Given the description of an element on the screen output the (x, y) to click on. 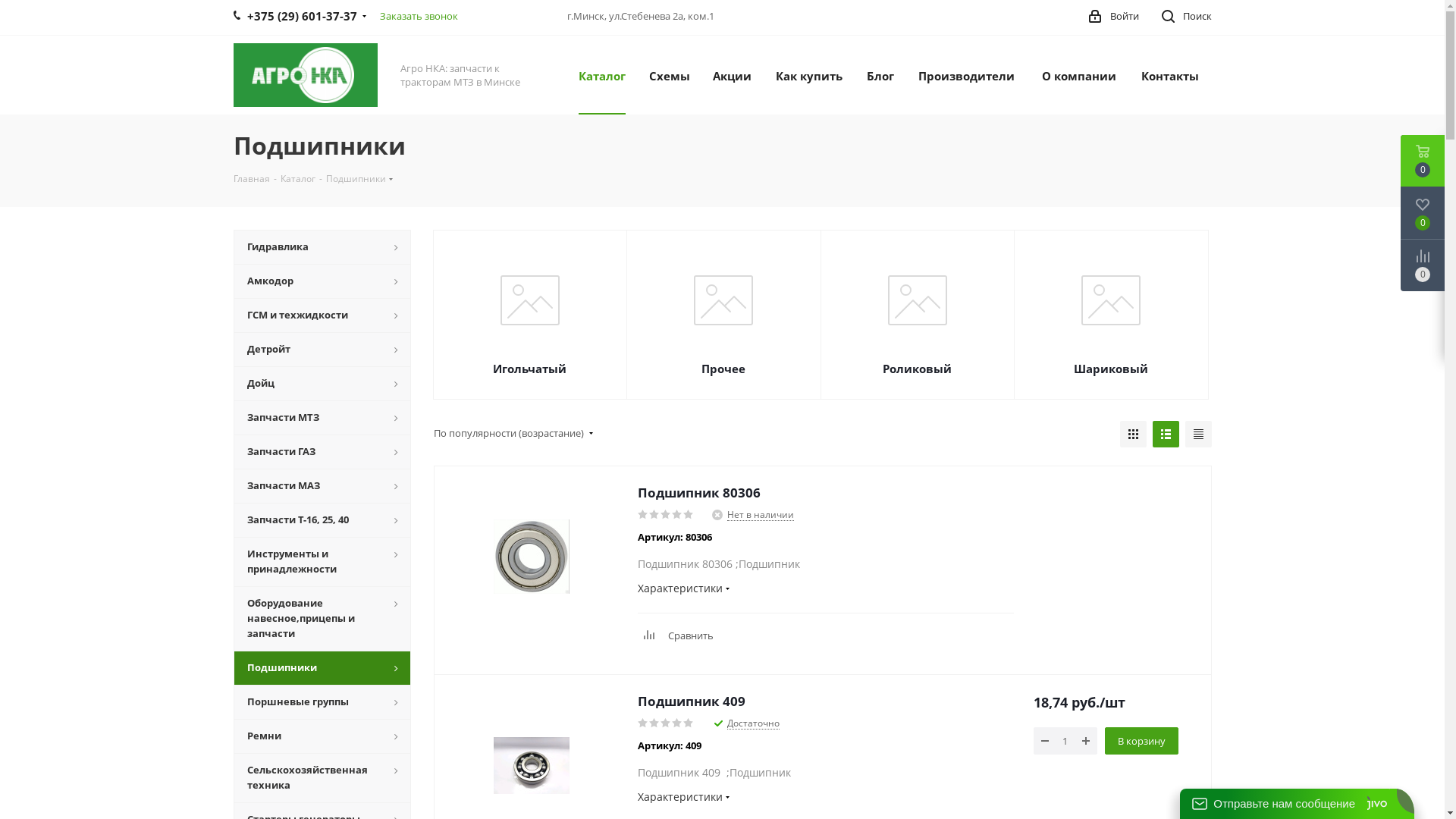
5 Element type: hover (687, 723)
5 Element type: hover (687, 514)
4 Element type: hover (677, 723)
3 Element type: hover (665, 514)
4 Element type: hover (677, 514)
2 Element type: hover (654, 723)
3 Element type: hover (665, 723)
2 Element type: hover (654, 514)
80306 Element type: hover (530, 556)
409 Element type: hover (530, 765)
1 Element type: hover (642, 514)
1 Element type: hover (642, 723)
